Given the description of an element on the screen output the (x, y) to click on. 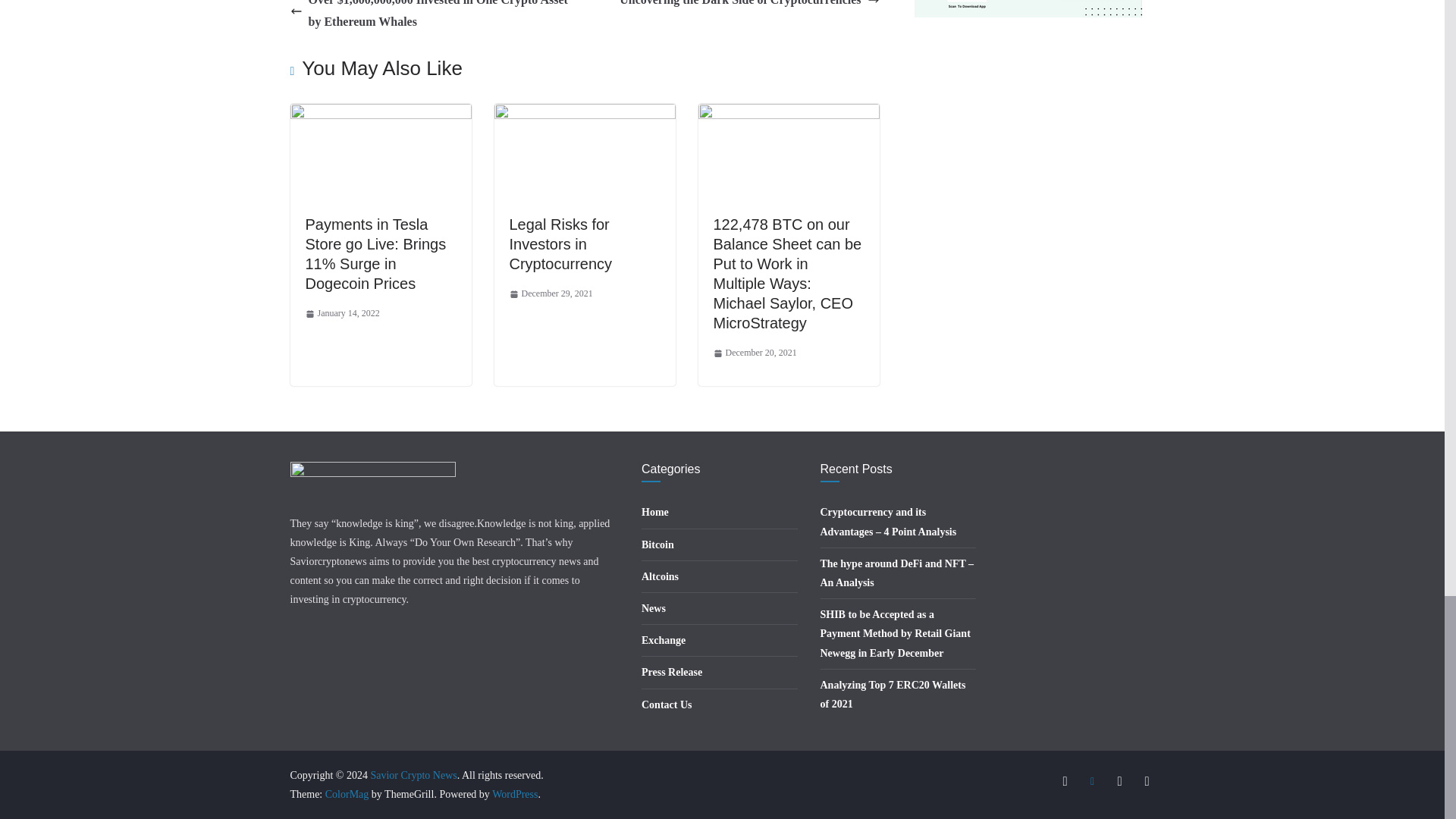
Legal Risks for Investors in Cryptocurrency (560, 243)
Legal Risks for Investors in Cryptocurrency (560, 243)
Legal Risks for Investors in Cryptocurrency (585, 113)
5:24 am (754, 352)
Uncovering the Dark Side of Cryptocurrencies (749, 5)
December 29, 2021 (550, 293)
December 20, 2021 (754, 352)
9:57 am (550, 293)
